Given the description of an element on the screen output the (x, y) to click on. 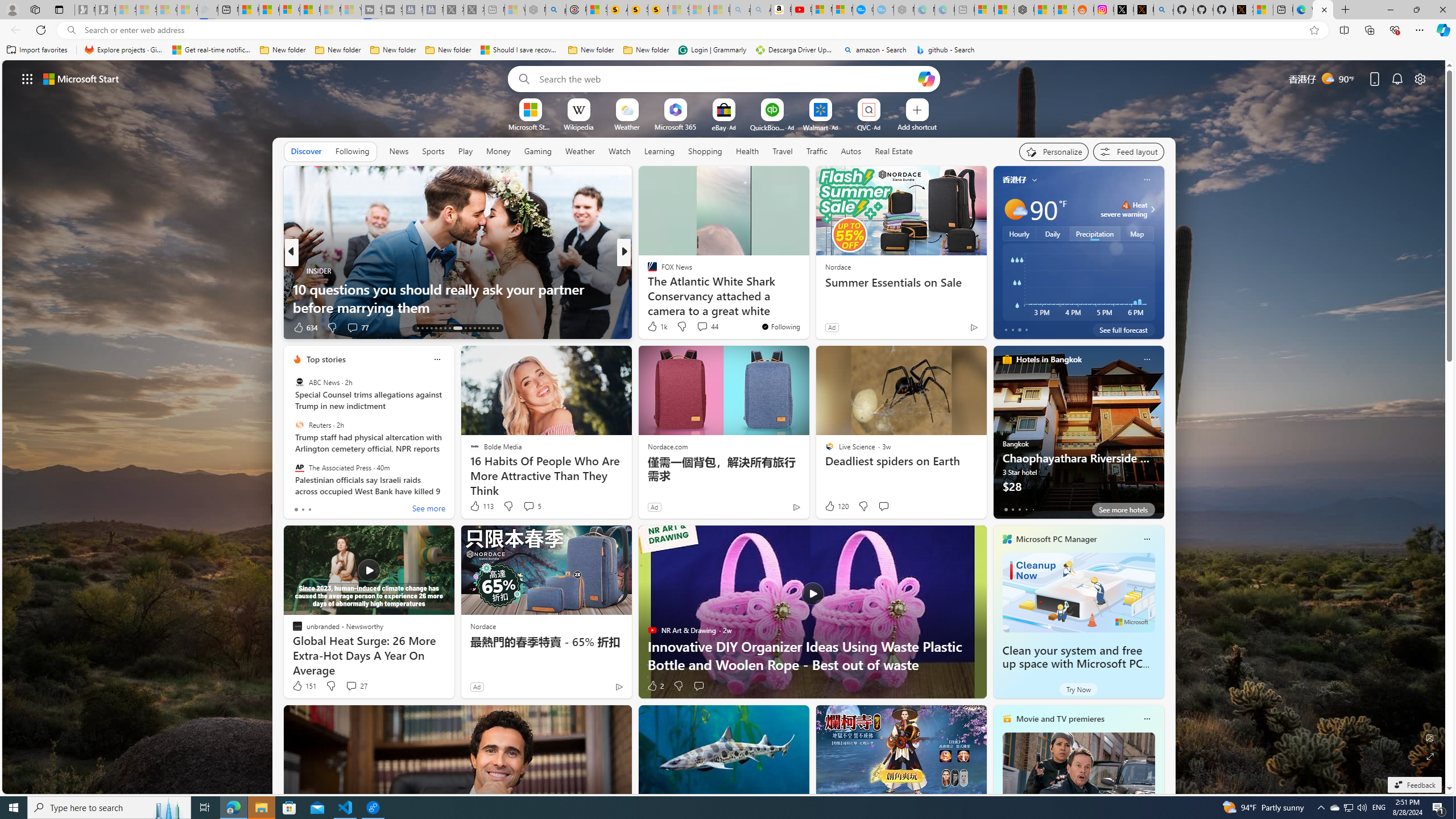
Wikipedia (578, 126)
Hide this story (774, 179)
Learning (659, 151)
Forge of Empires (668, 288)
Play (465, 151)
View comments 44 Comment (706, 326)
Play (465, 151)
tab-4 (1032, 509)
Summer Essentials on Sale (900, 282)
AutomationID: tab-16 (431, 328)
